Given the description of an element on the screen output the (x, y) to click on. 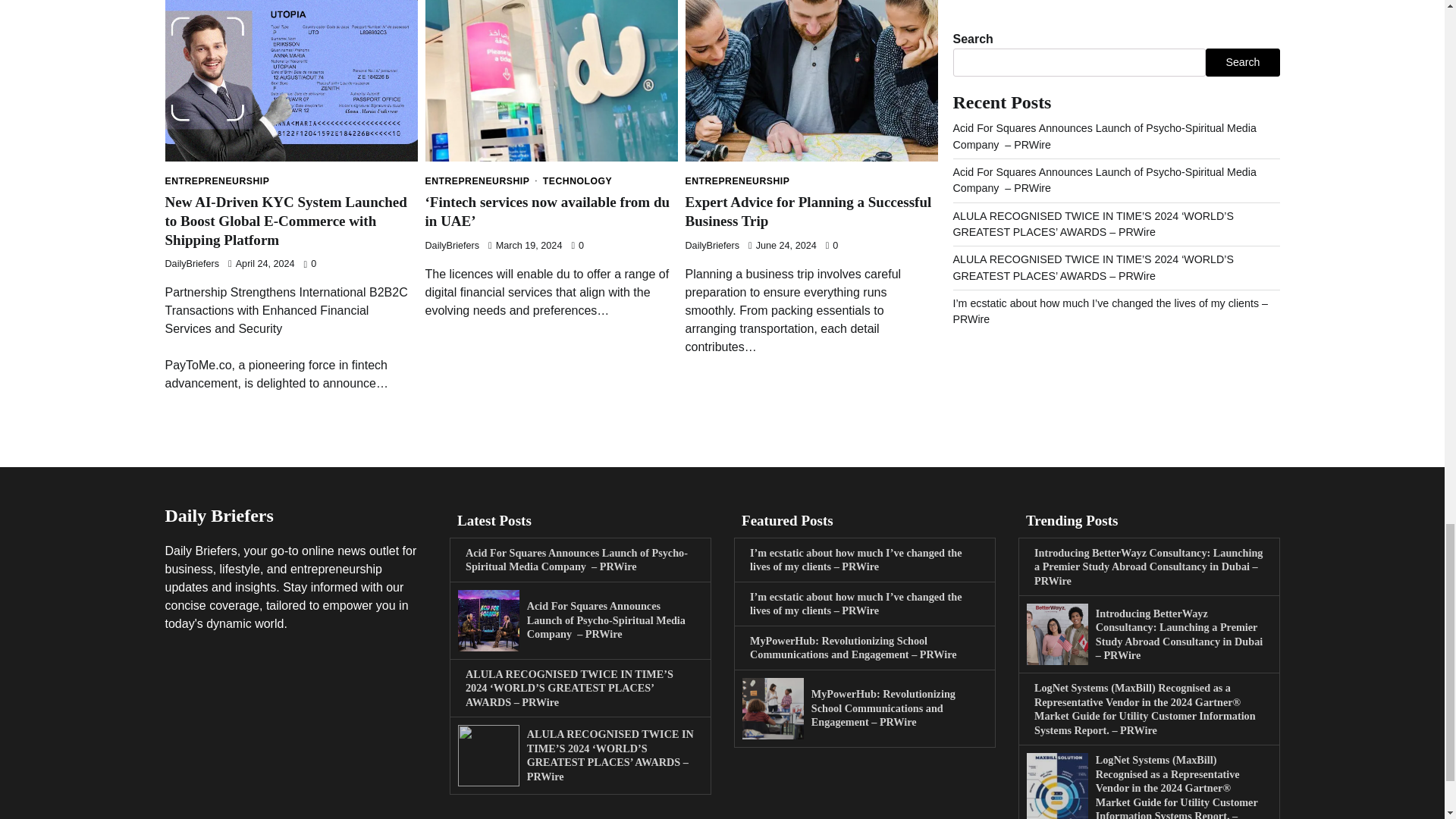
DailyBriefers (192, 263)
TECHNOLOGY (577, 180)
ENTREPRENEURSHIP (737, 180)
ENTREPRENEURSHIP (217, 180)
DailyBriefers (712, 245)
ENTREPRENEURSHIP (481, 180)
Expert Advice for Planning a Successful Business Trip (808, 211)
DailyBriefers (452, 245)
